Given the description of an element on the screen output the (x, y) to click on. 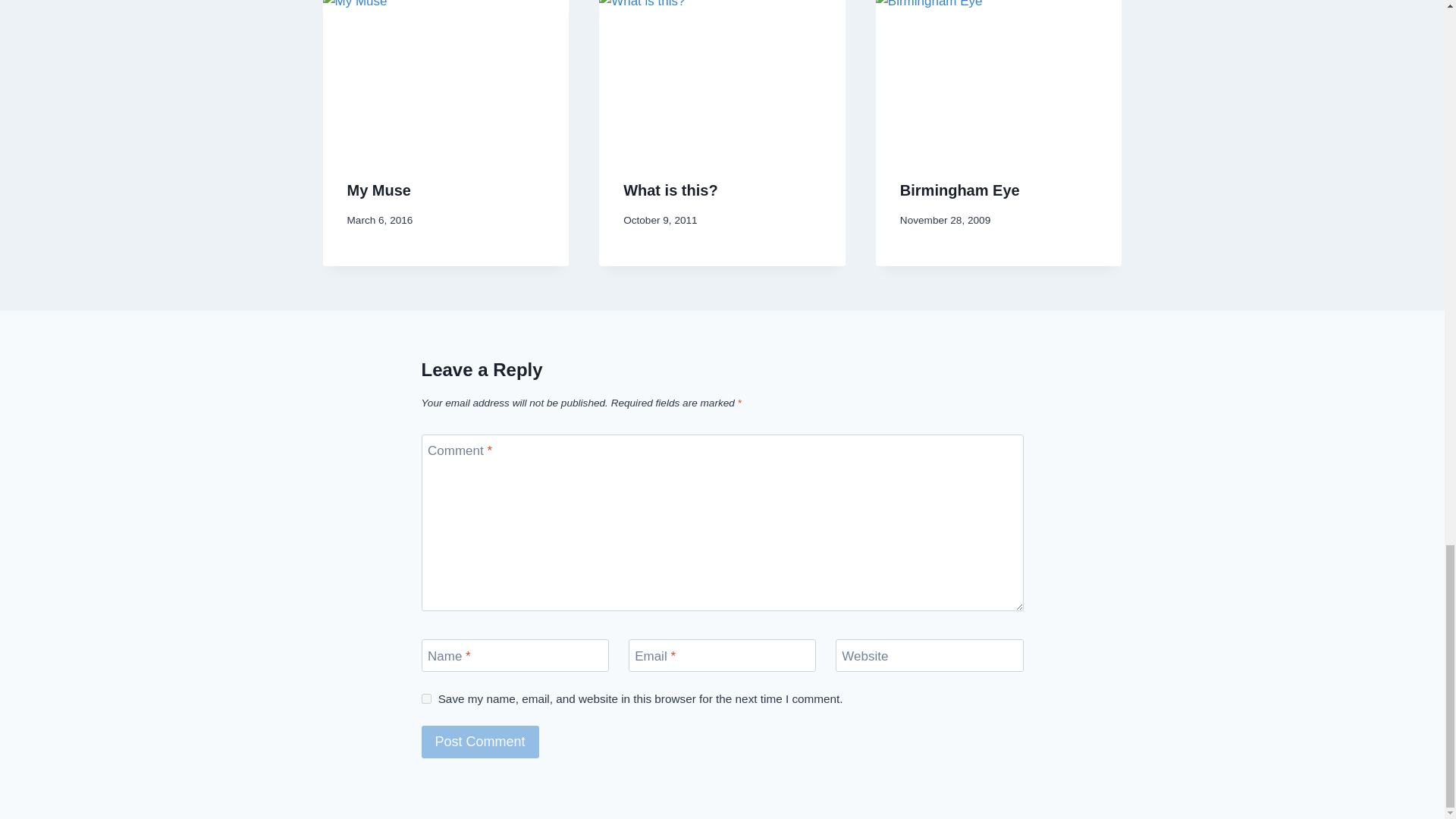
What is this? 10 (721, 77)
Birmingham Eye 11 (999, 77)
My Muse 8 (446, 77)
What is this? (670, 190)
My Muse (378, 190)
Post Comment (480, 741)
yes (426, 698)
